Given the description of an element on the screen output the (x, y) to click on. 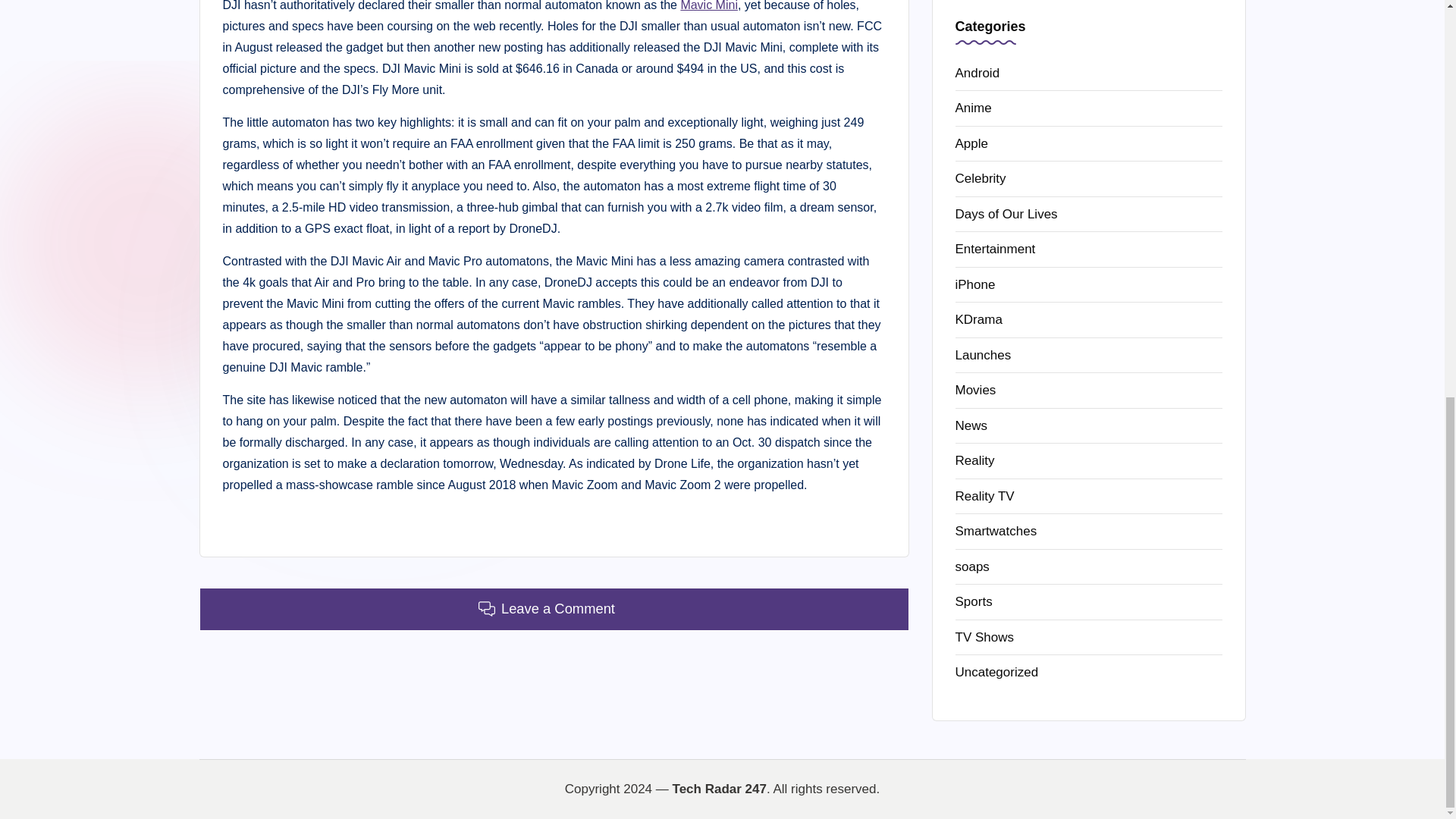
Android (1089, 73)
Entertainment (1089, 249)
Apple (1089, 143)
Anime (1089, 107)
Celebrity (1089, 178)
Leave a Comment (553, 609)
Days of Our Lives (1089, 214)
Mavic Mini (708, 5)
